Given the description of an element on the screen output the (x, y) to click on. 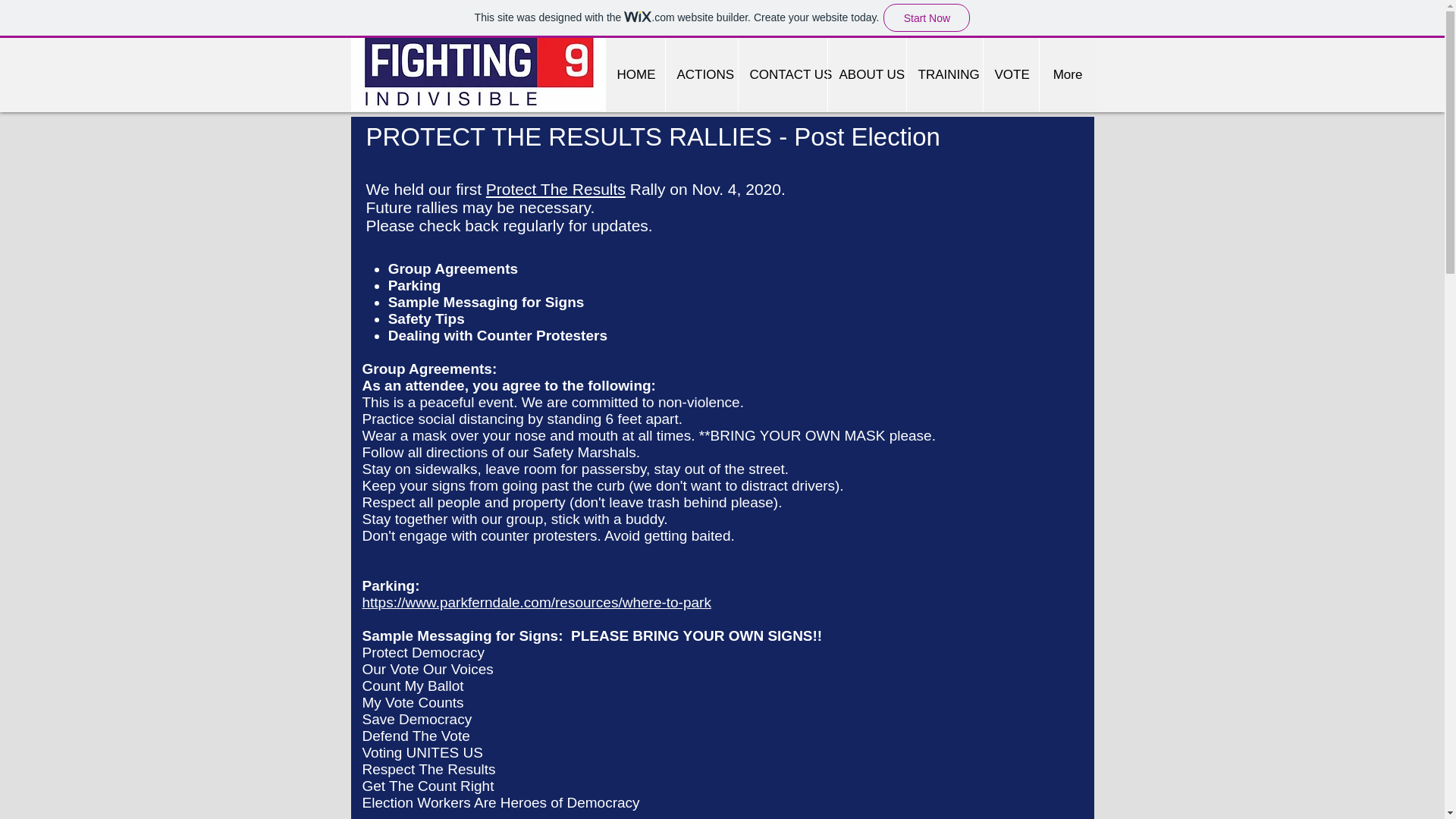
ACTIONS (699, 74)
TRAINING (943, 74)
CONTACT US (781, 74)
ABOUT US (866, 74)
Protect The Results (556, 189)
